Given the description of an element on the screen output the (x, y) to click on. 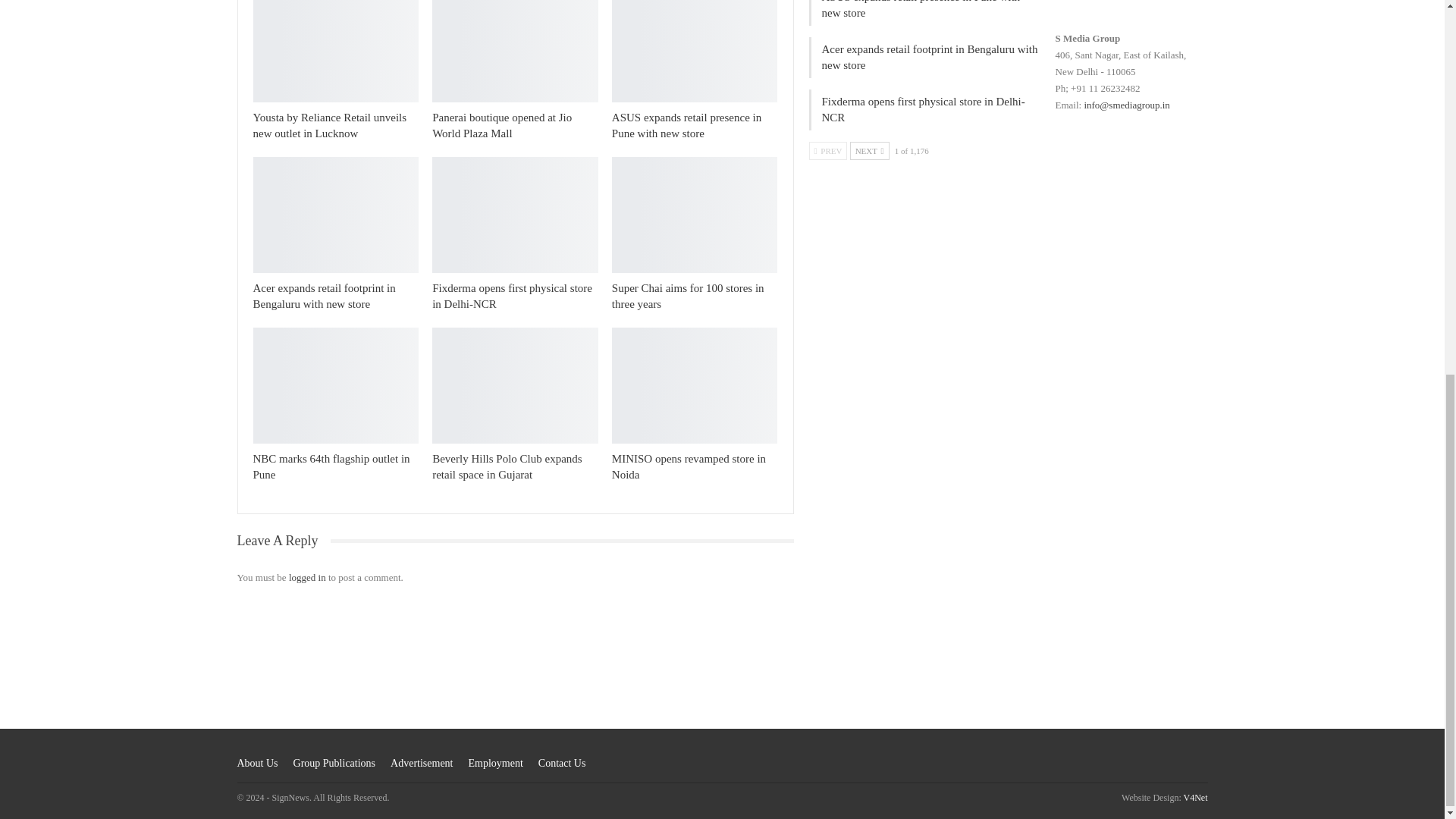
Panerai boutique opened at Jio World Plaza Mall (502, 125)
Yousta by Reliance Retail unveils new outlet in Lucknow (330, 125)
Fixderma opens first physical store in Delhi-NCR (512, 295)
Panerai boutique opened at Jio World Plaza Mall (502, 125)
Super Chai aims for 100 stores in three years (694, 214)
Fixderma opens first physical store in Delhi-NCR (515, 214)
Super Chai aims for 100 stores in three years (687, 295)
Panerai boutique opened at Jio World Plaza Mall (515, 51)
NBC marks 64th flagship outlet in Pune (336, 385)
Yousta by Reliance Retail unveils new outlet in Lucknow (330, 125)
Acer expands retail footprint in Bengaluru with new store (324, 295)
ASUS expands retail presence in Pune with new store (694, 51)
ASUS expands retail presence in Pune with new store (686, 125)
ASUS expands retail presence in Pune with new store (686, 125)
Acer expands retail footprint in Bengaluru with new store (336, 214)
